Given the description of an element on the screen output the (x, y) to click on. 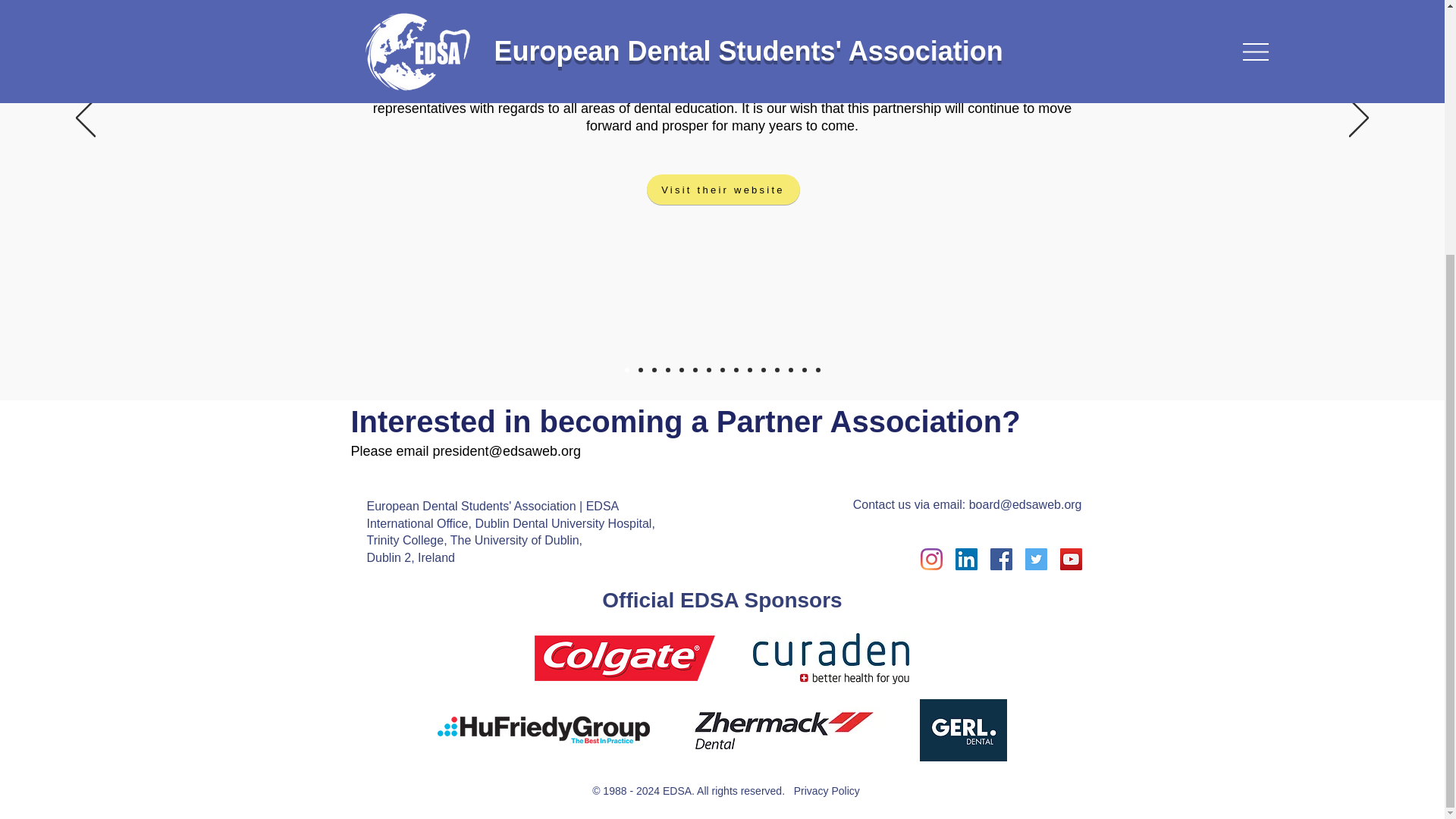
Visit their website (722, 189)
Privacy Policy (826, 790)
